Given the description of an element on the screen output the (x, y) to click on. 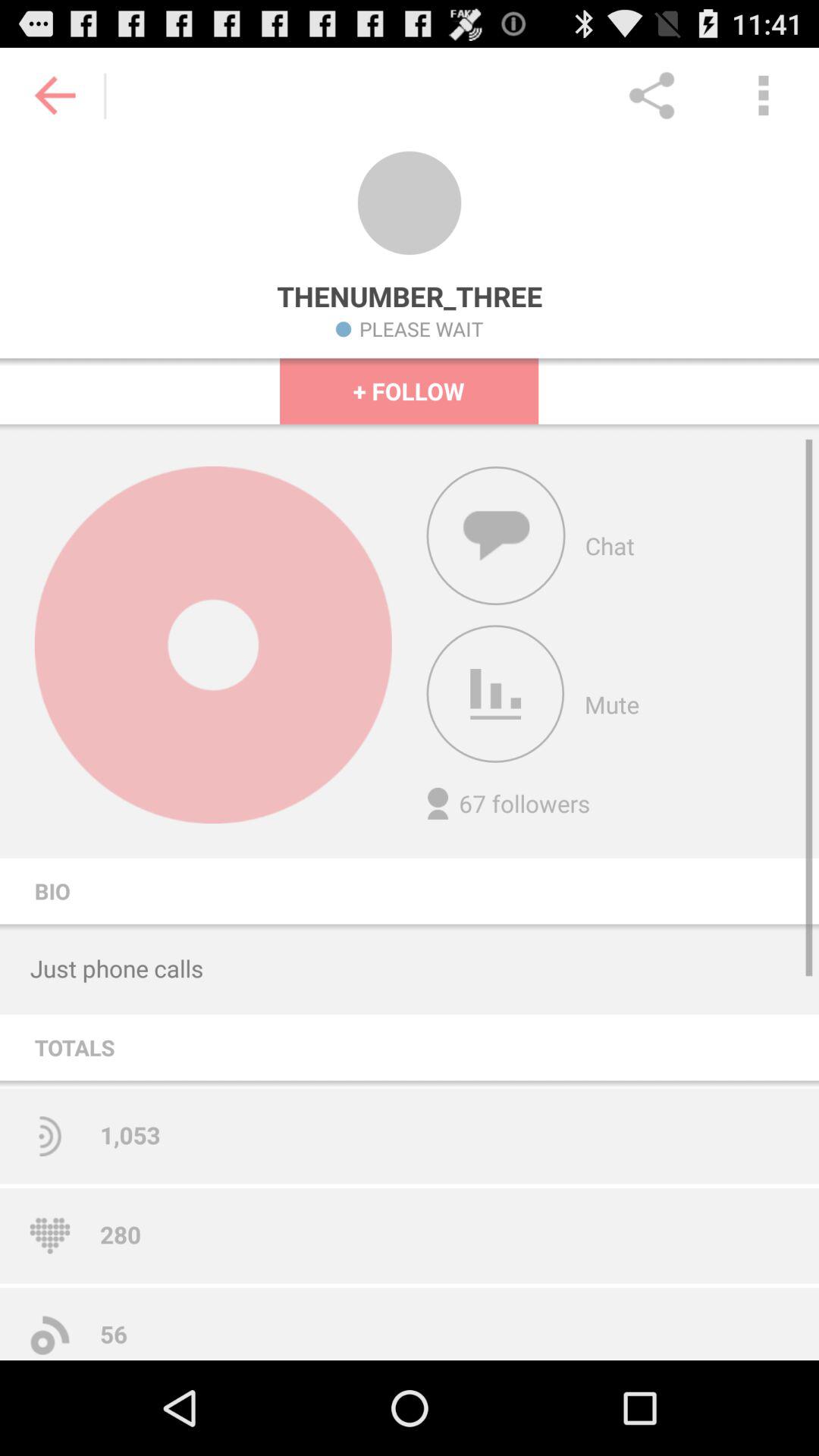
volume control (495, 694)
